Given the description of an element on the screen output the (x, y) to click on. 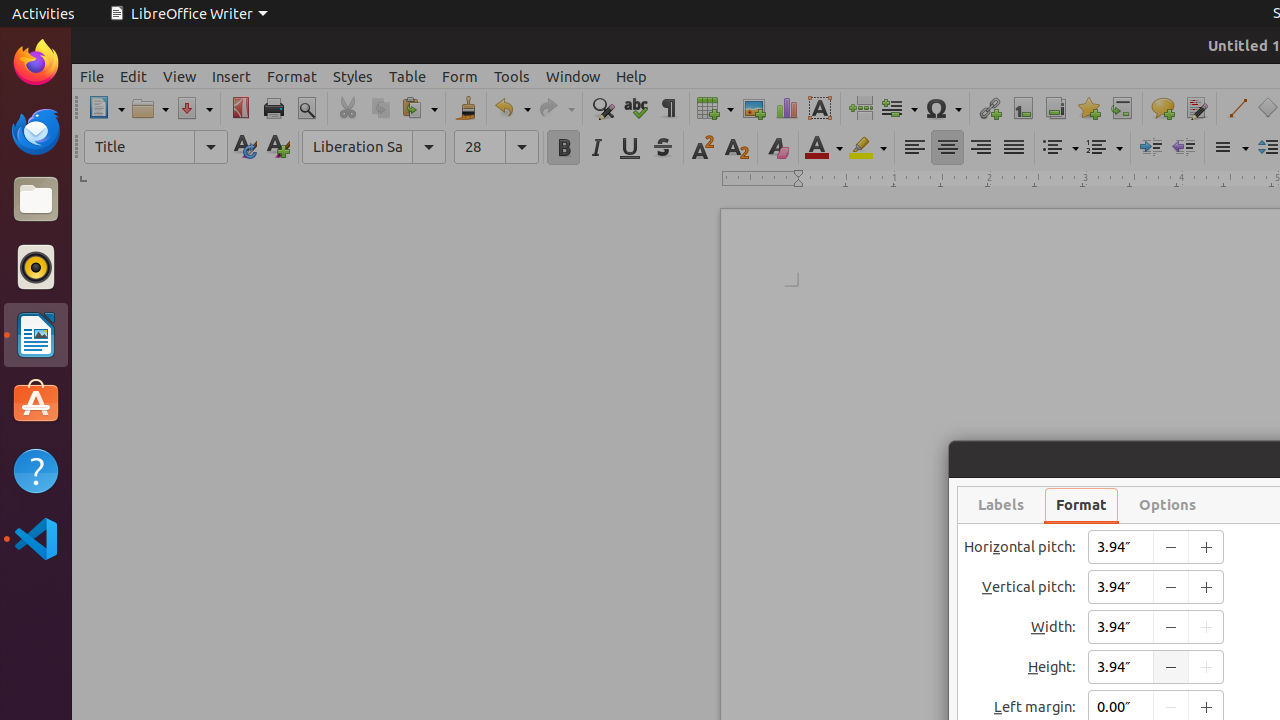
LibreOffice Writer Element type: menu (188, 13)
Ubuntu Software Element type: push-button (36, 402)
Thunderbird Mail Element type: push-button (36, 131)
Files Element type: push-button (36, 199)
